Given the description of an element on the screen output the (x, y) to click on. 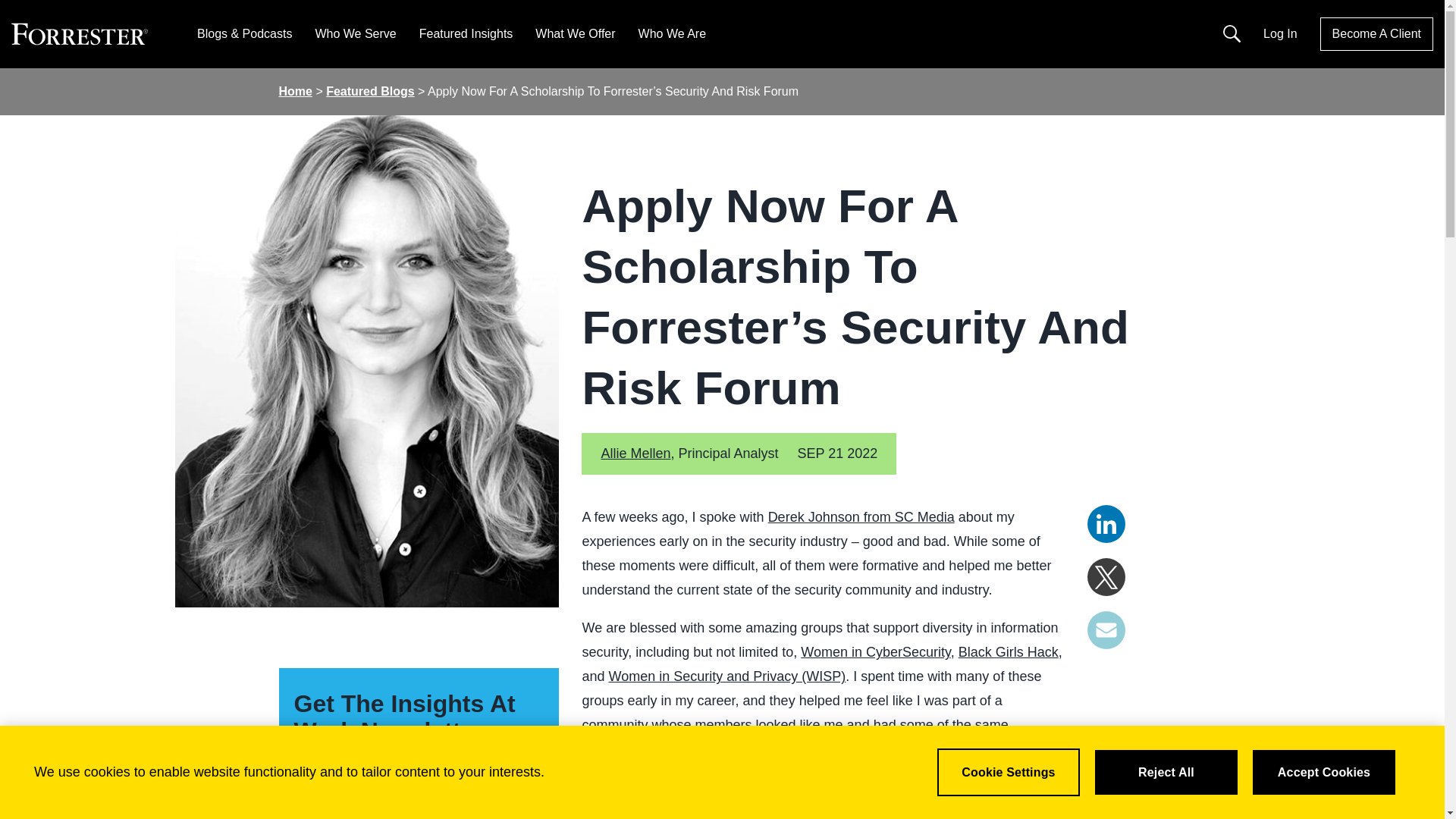
What We Offer (574, 33)
Posts by Allie Mellen (634, 453)
Who We Serve (355, 33)
Featured Insights (466, 33)
